Given the description of an element on the screen output the (x, y) to click on. 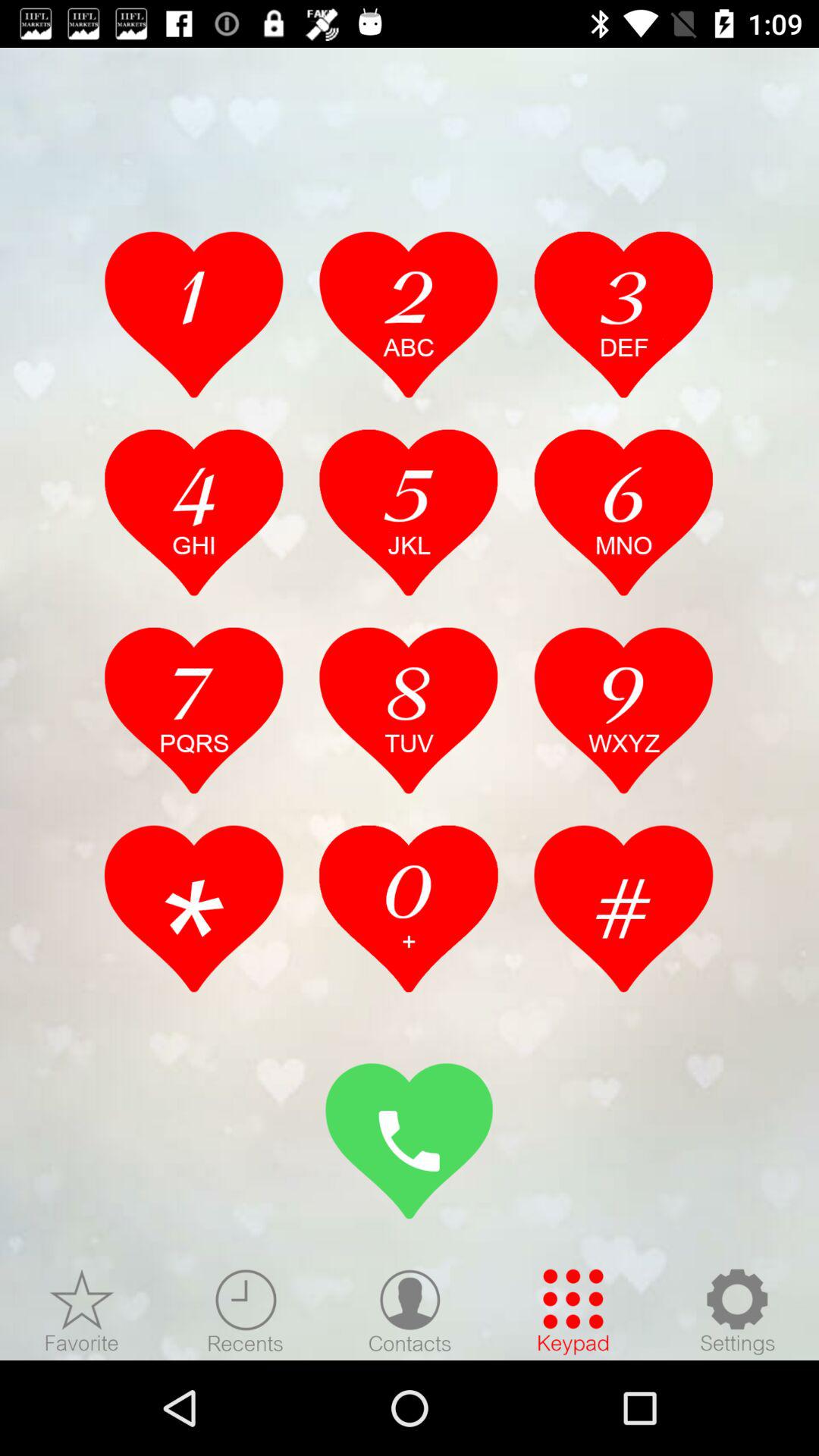
green button to dial (409, 1140)
